Given the description of an element on the screen output the (x, y) to click on. 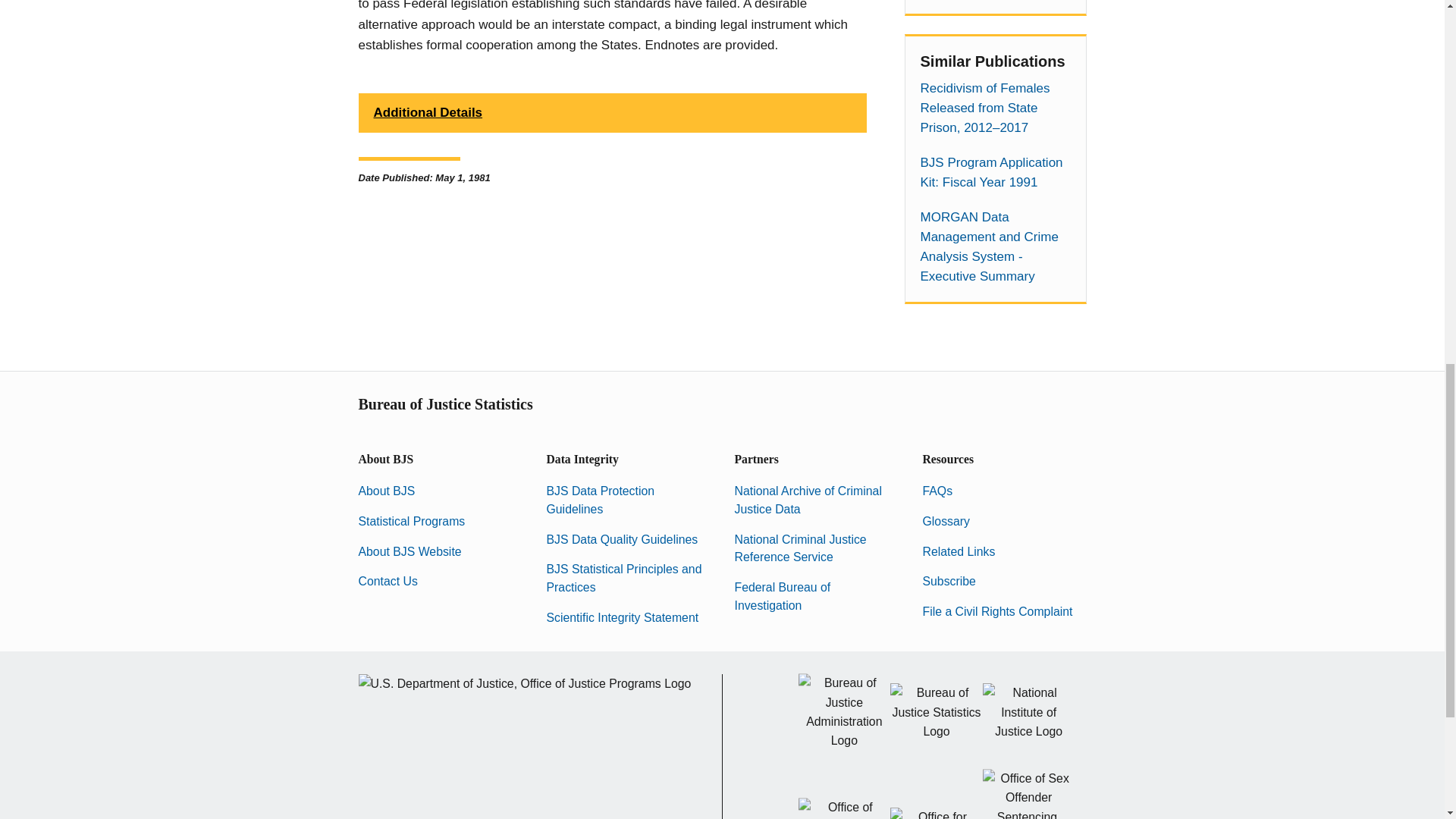
BJS Program Application Kit: Fiscal Year 1991 (995, 172)
Additional Details (612, 112)
